Given the description of an element on the screen output the (x, y) to click on. 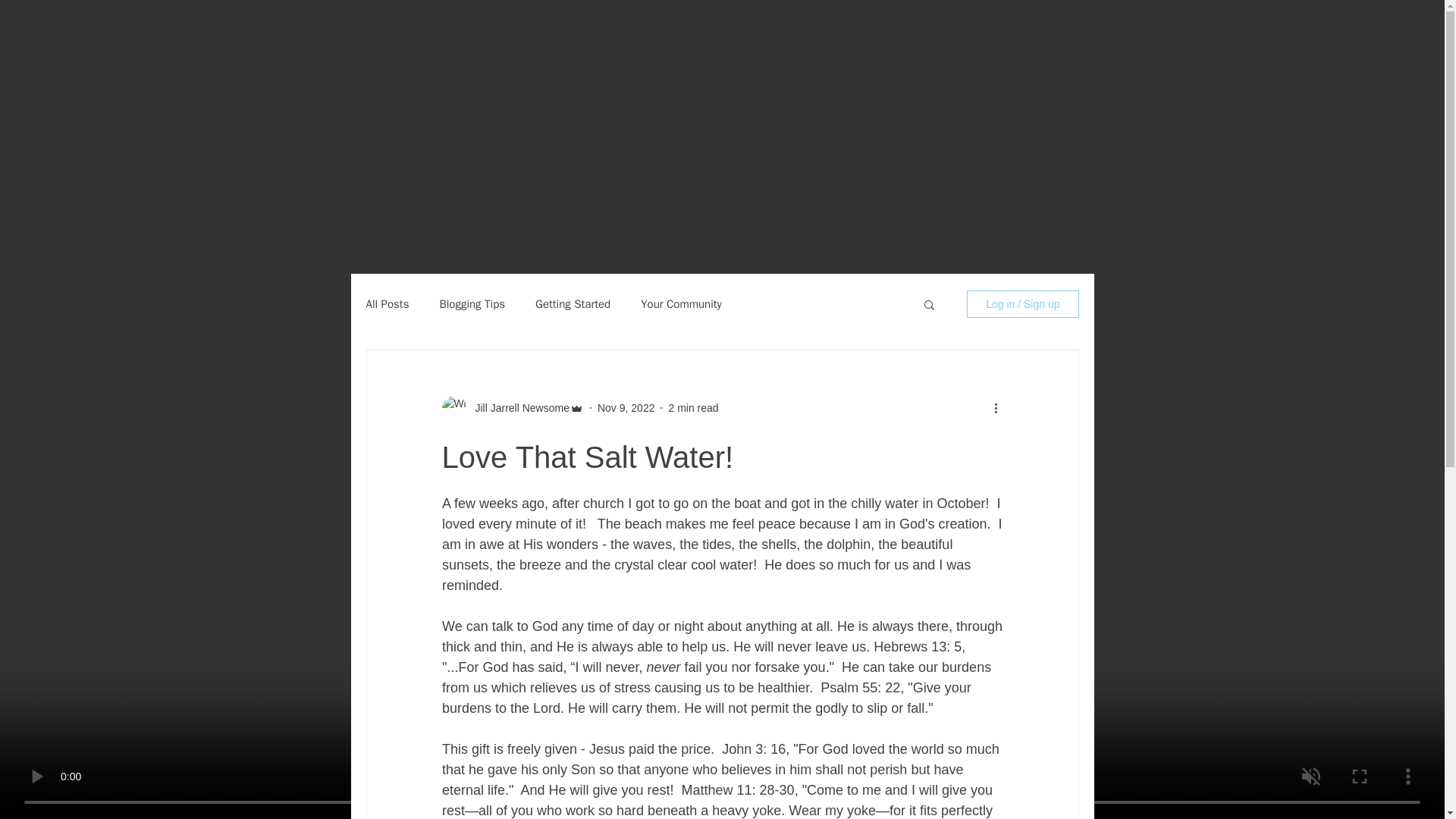
2 min read (692, 408)
Getting Started (572, 304)
Jill Jarrell Newsome (517, 408)
Nov 9, 2022 (625, 408)
Blogging Tips (472, 304)
Your Community (681, 304)
All Posts (387, 304)
